Given the description of an element on the screen output the (x, y) to click on. 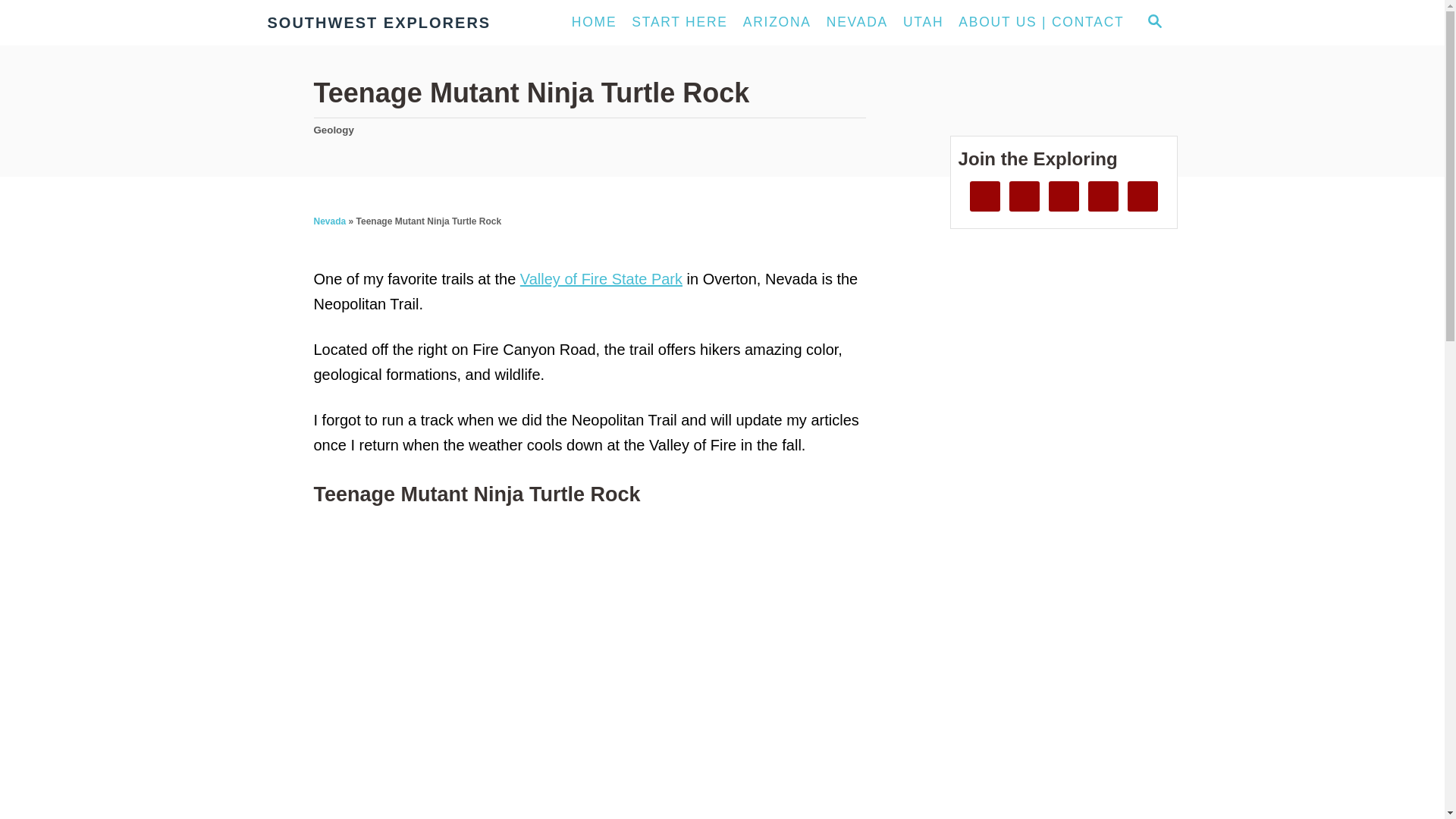
Southwest Explorers (397, 23)
SEARCH (1153, 22)
ARIZONA (776, 22)
START HERE (679, 22)
Geology (333, 129)
Nevada (330, 221)
UTAH (922, 22)
SOUTHWEST EXPLORERS (397, 23)
HOME (594, 22)
NEVADA (856, 22)
Valley of Fire State Park (600, 279)
